Given the description of an element on the screen output the (x, y) to click on. 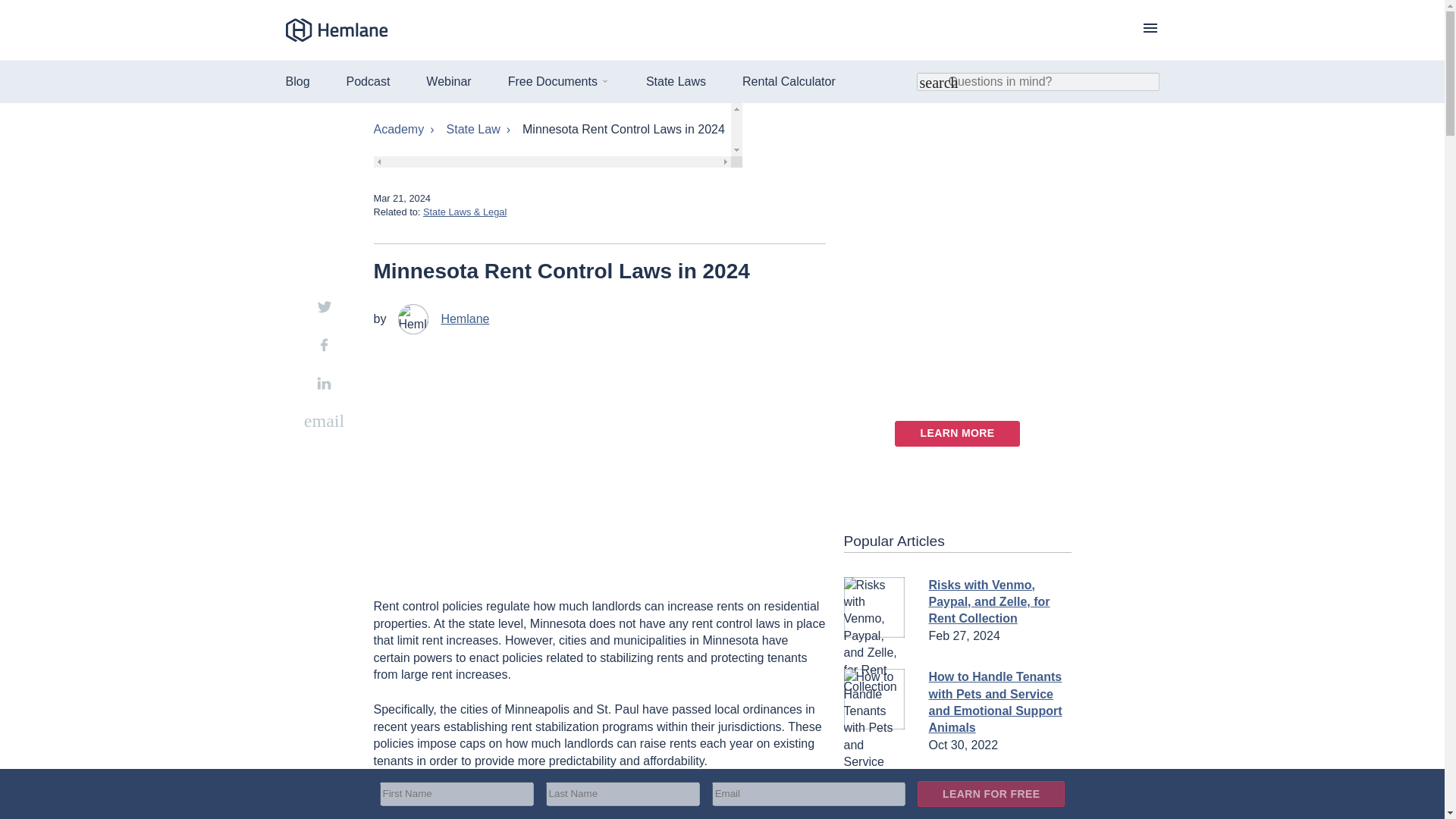
property management software by Hemlane (336, 30)
Blog (296, 81)
Risks with Venmo, Paypal, and Zelle, for Rent Collection (988, 601)
LEARN MORE (957, 433)
Podcast (368, 81)
Webinar (448, 81)
Submit your search query. (930, 81)
search (930, 81)
Academy (402, 129)
State Laws (676, 81)
Rental Calculator (788, 81)
State Law (478, 129)
Free Documents (552, 81)
Learn for free (991, 793)
